Given the description of an element on the screen output the (x, y) to click on. 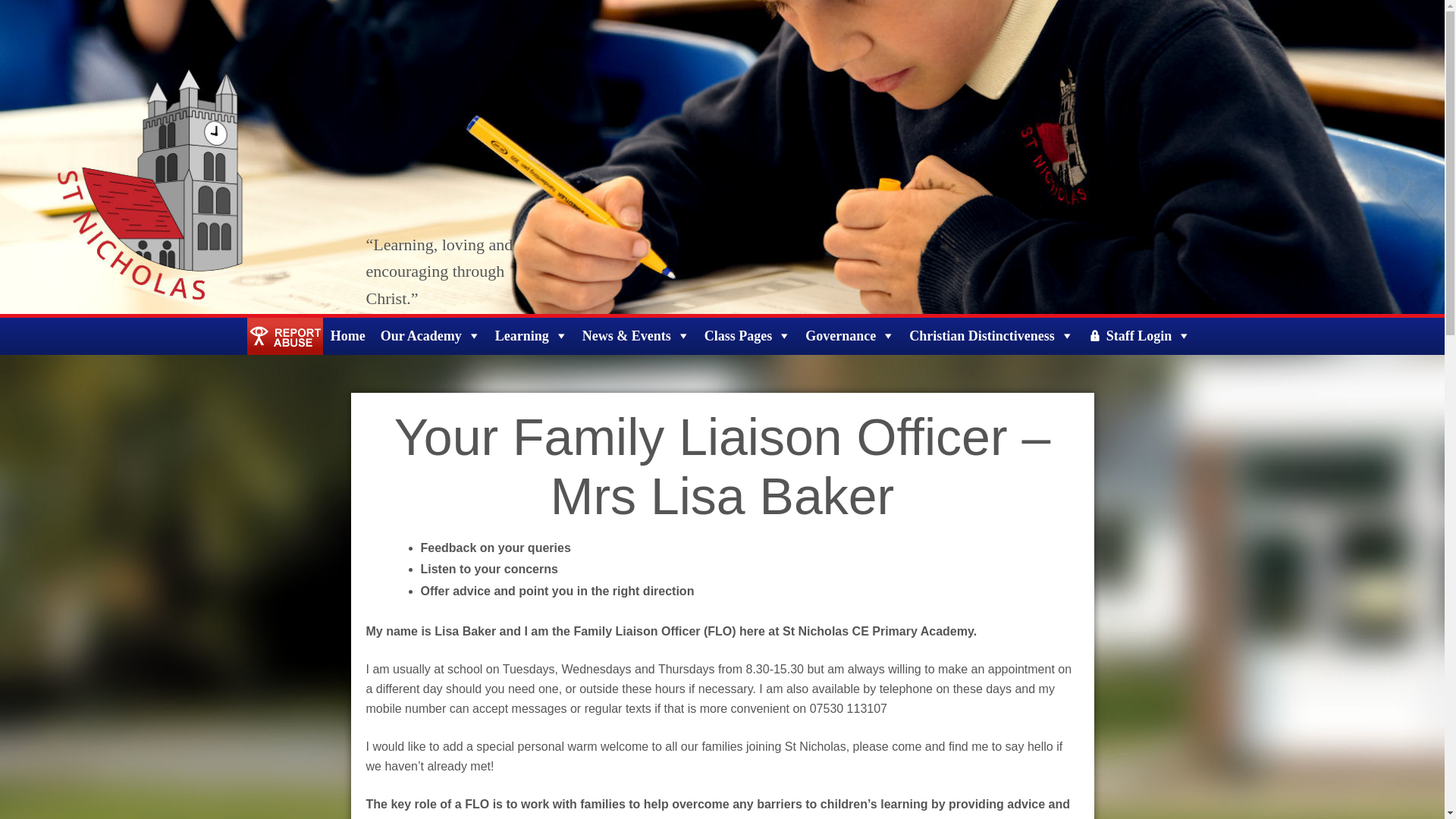
St Nicholas CE Primary Academy (89, 327)
Home (347, 335)
Our Academy (429, 335)
Learning (531, 335)
